Given the description of an element on the screen output the (x, y) to click on. 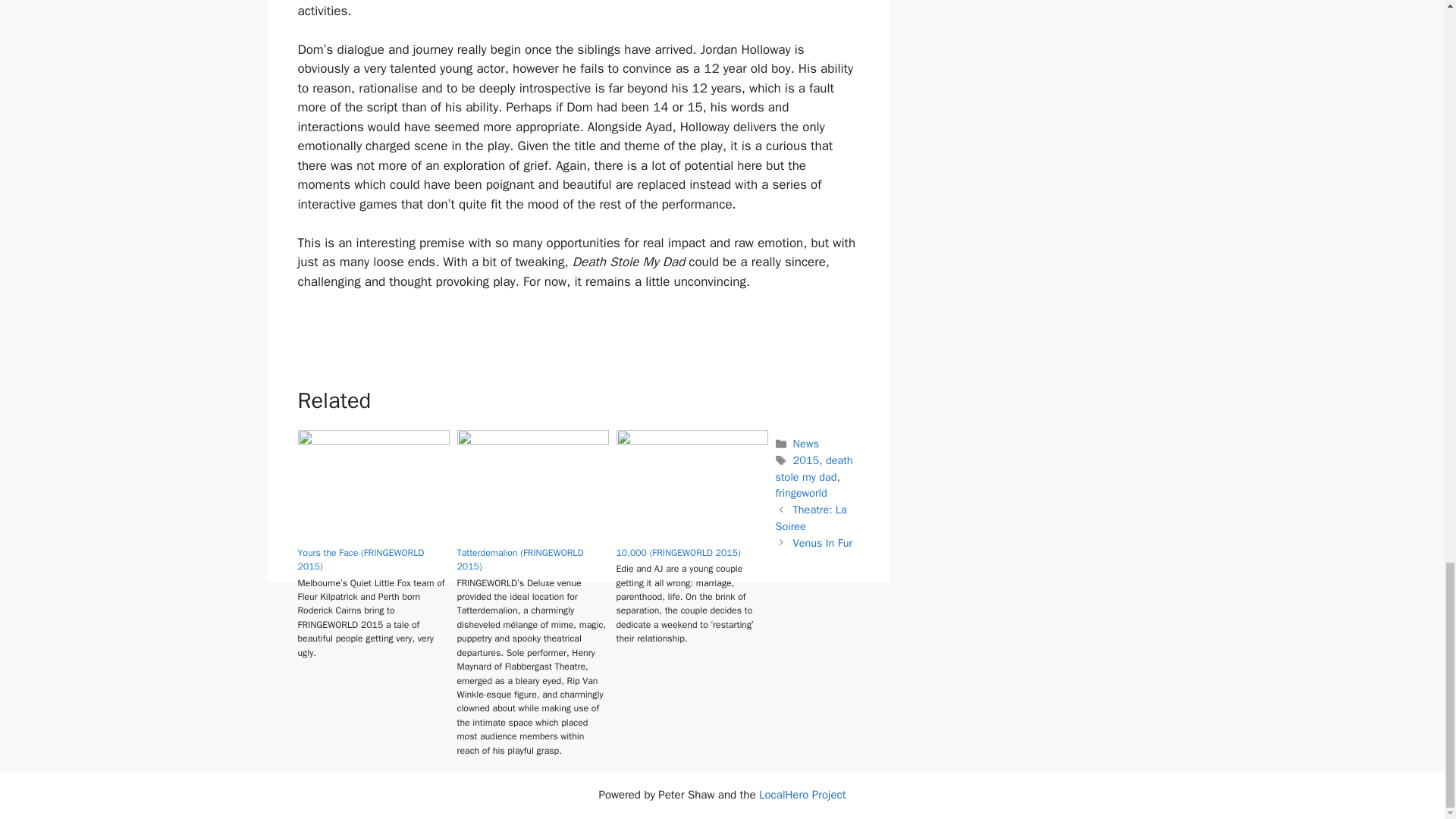
death stole my dad (812, 468)
Venus In Fur (822, 542)
Theatre: La Soiree (809, 517)
News (805, 443)
LocalHero Project (801, 794)
fringeworld (800, 492)
2015 (806, 459)
